Given the description of an element on the screen output the (x, y) to click on. 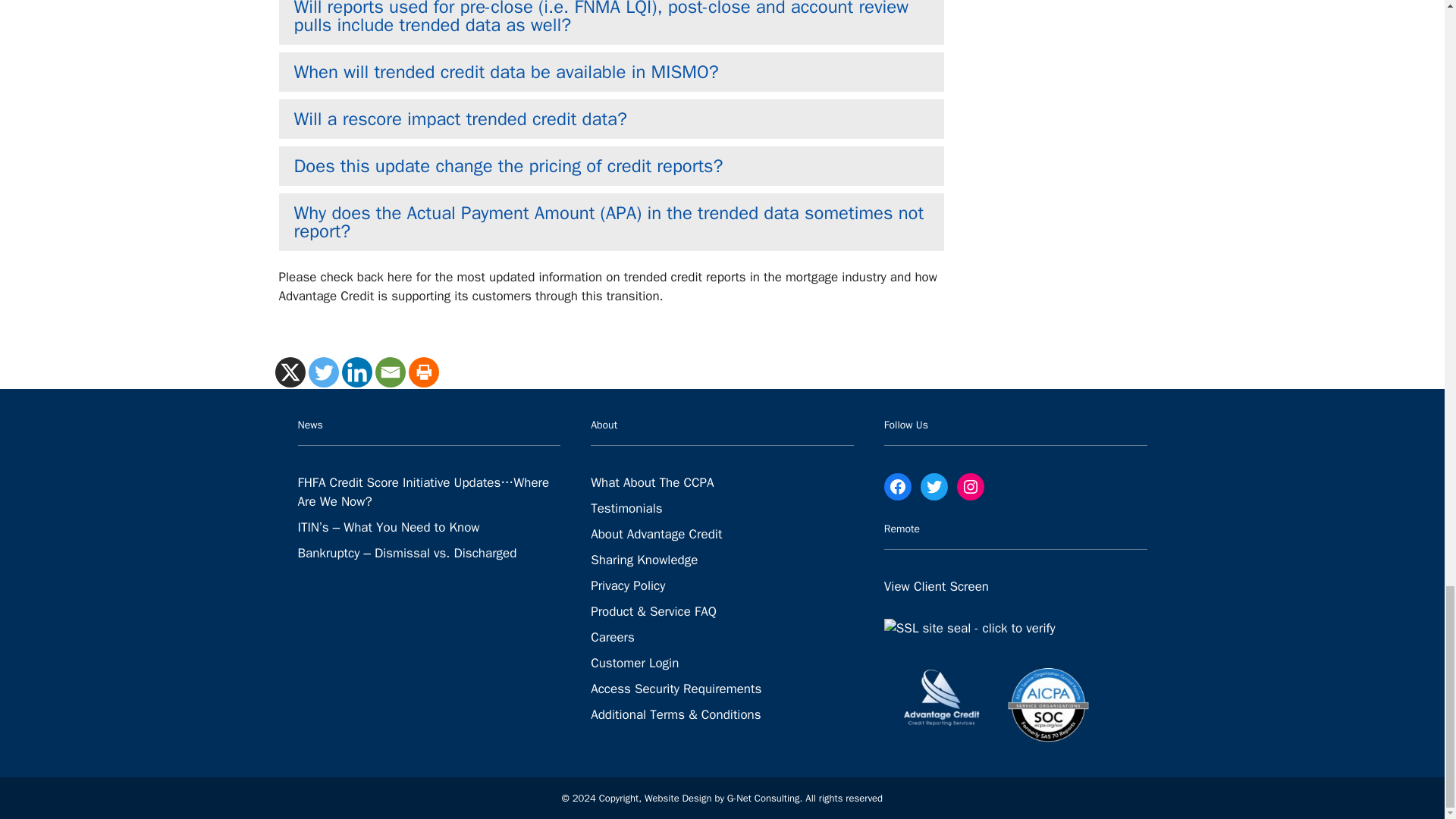
Linkedin (355, 372)
X (289, 372)
Twitter (322, 372)
Print (422, 372)
Email (389, 372)
